Given the description of an element on the screen output the (x, y) to click on. 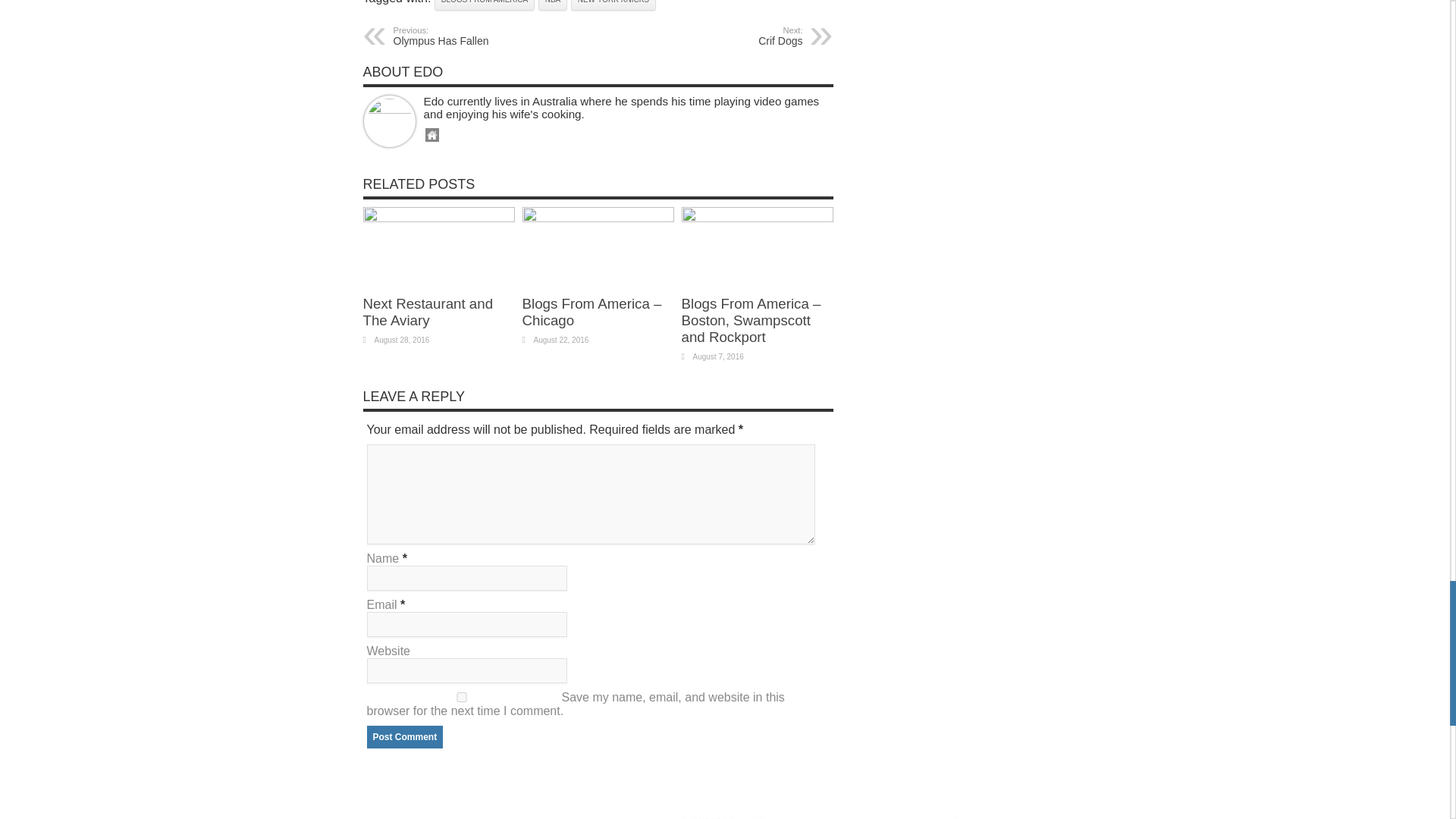
Permalink to Next Restaurant and The Aviary (427, 311)
Permalink to Next Restaurant and The Aviary (437, 217)
yes (461, 696)
Post Comment (405, 736)
